Given the description of an element on the screen output the (x, y) to click on. 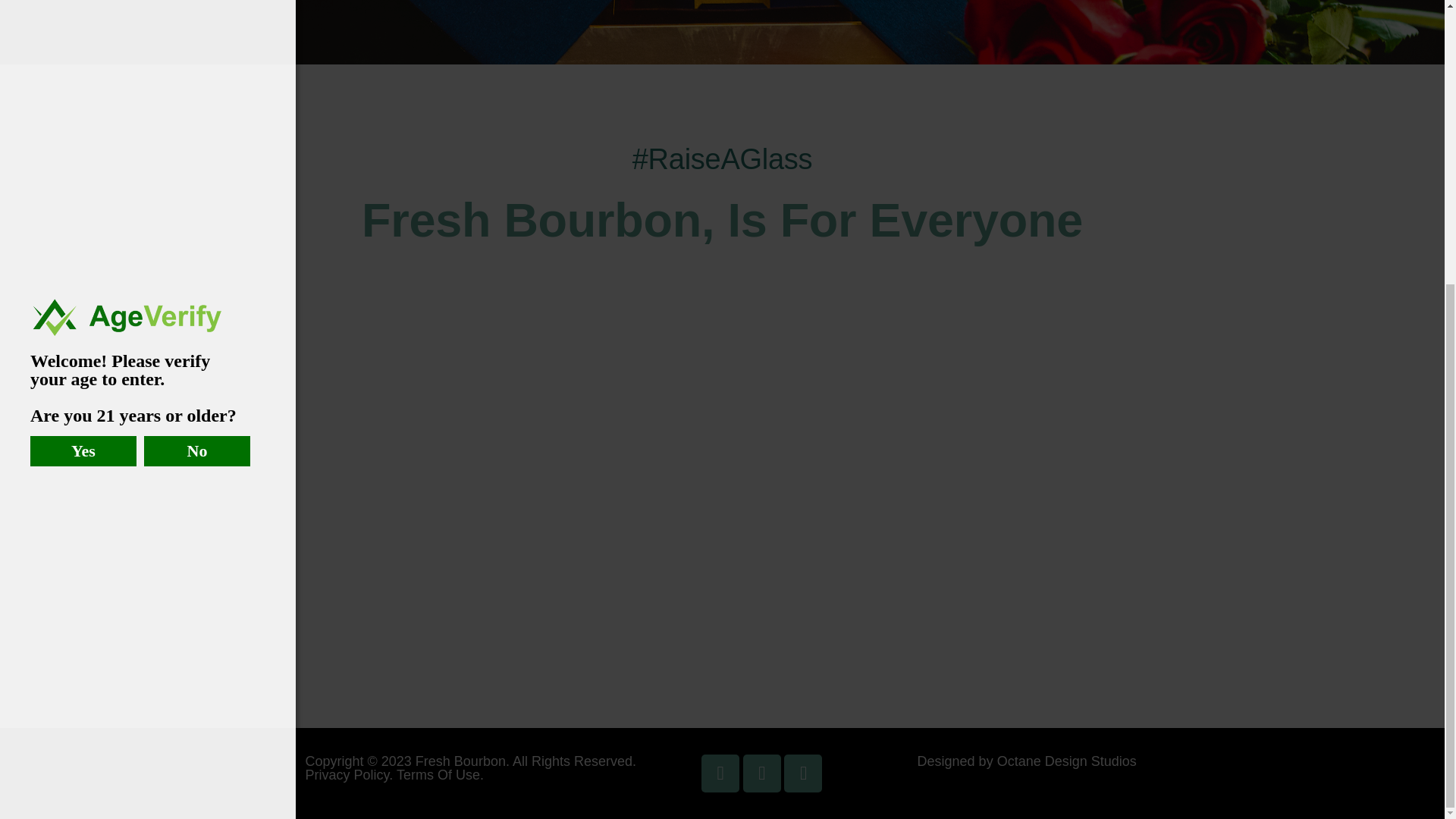
Yes (83, 24)
No (197, 24)
Privacy Policy. (348, 774)
Octane Design Studios (1067, 760)
Terms Of Use. (439, 774)
